Given the description of an element on the screen output the (x, y) to click on. 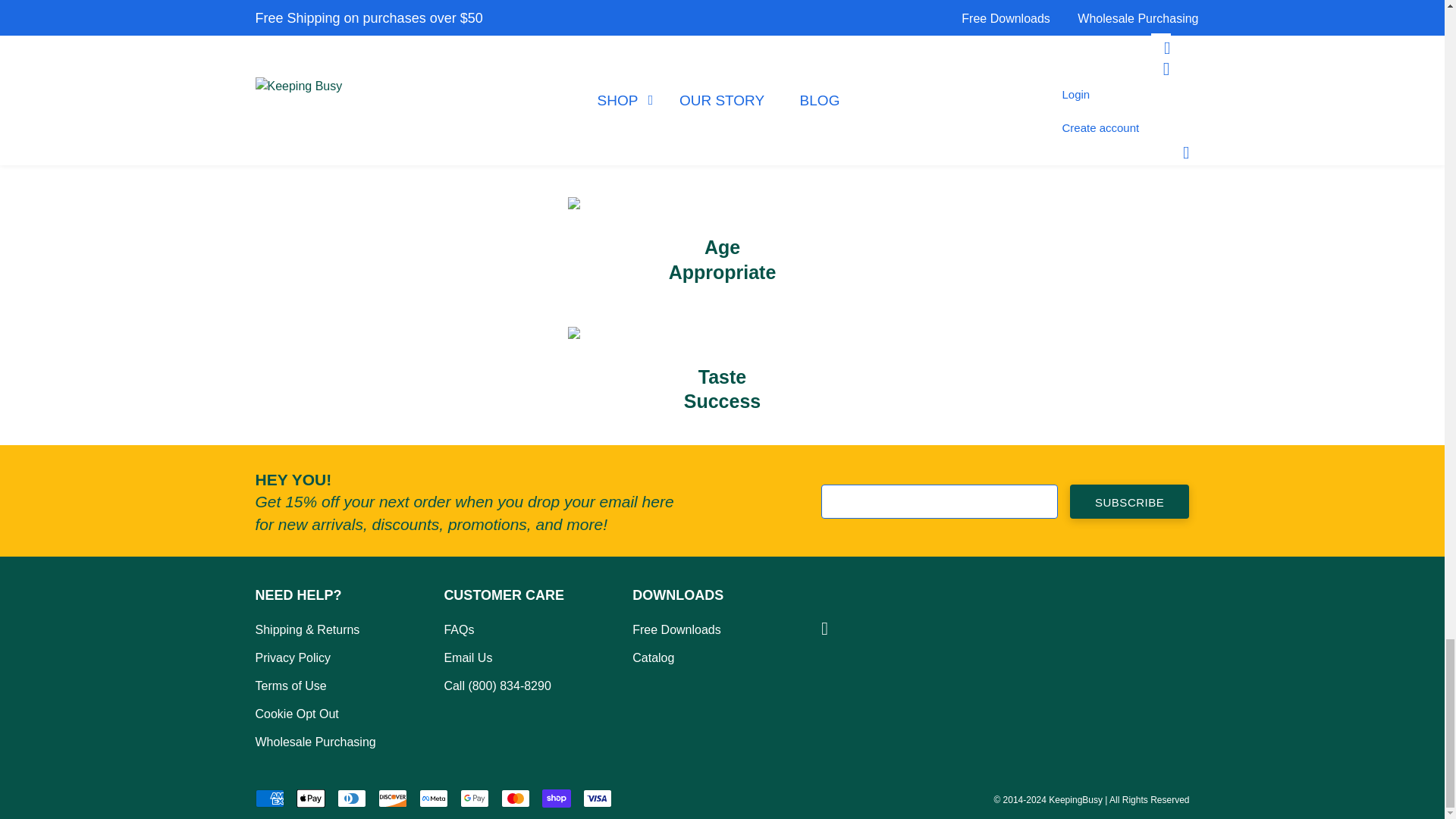
Diners Club (350, 798)
Shop Pay (555, 798)
American Express (268, 798)
Apple Pay (309, 798)
Mastercard (514, 798)
Privacy Policy (330, 657)
Subscribe (1129, 501)
Meta Pay (432, 798)
Discover (391, 798)
Visa (596, 798)
